Given the description of an element on the screen output the (x, y) to click on. 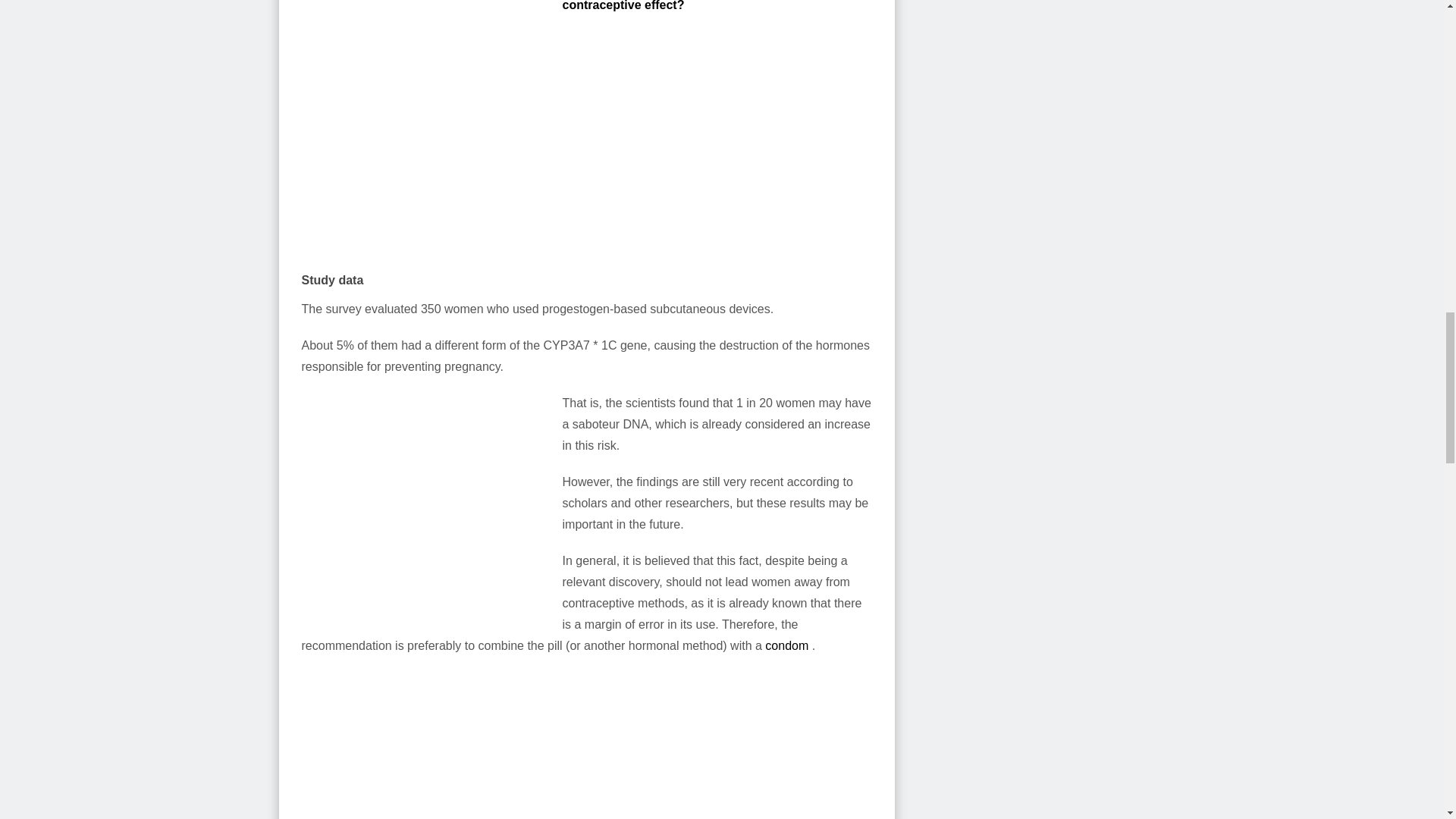
How to put on a condom (786, 645)
